Given the description of an element on the screen output the (x, y) to click on. 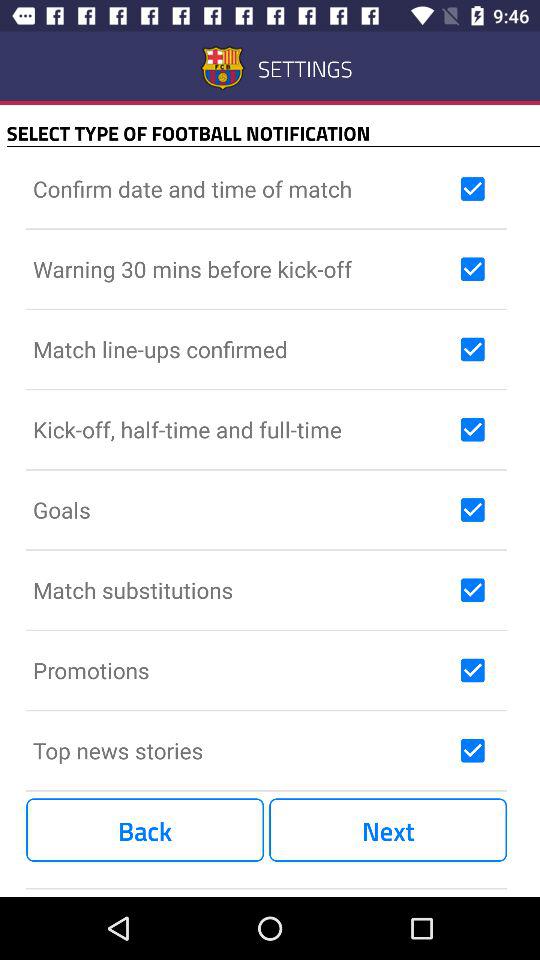
jump until match substitutions item (242, 589)
